Given the description of an element on the screen output the (x, y) to click on. 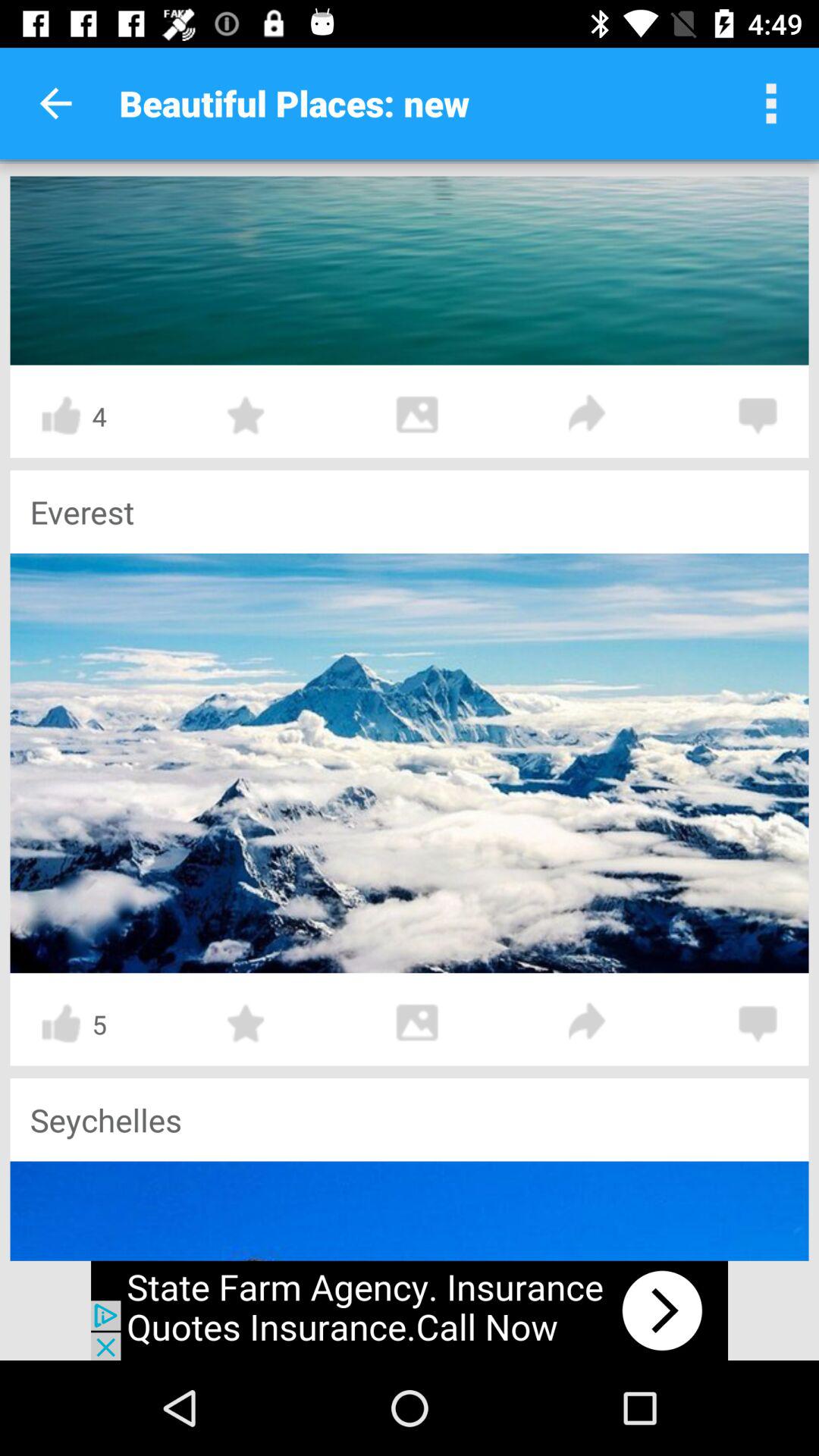
like post (61, 1023)
